Given the description of an element on the screen output the (x, y) to click on. 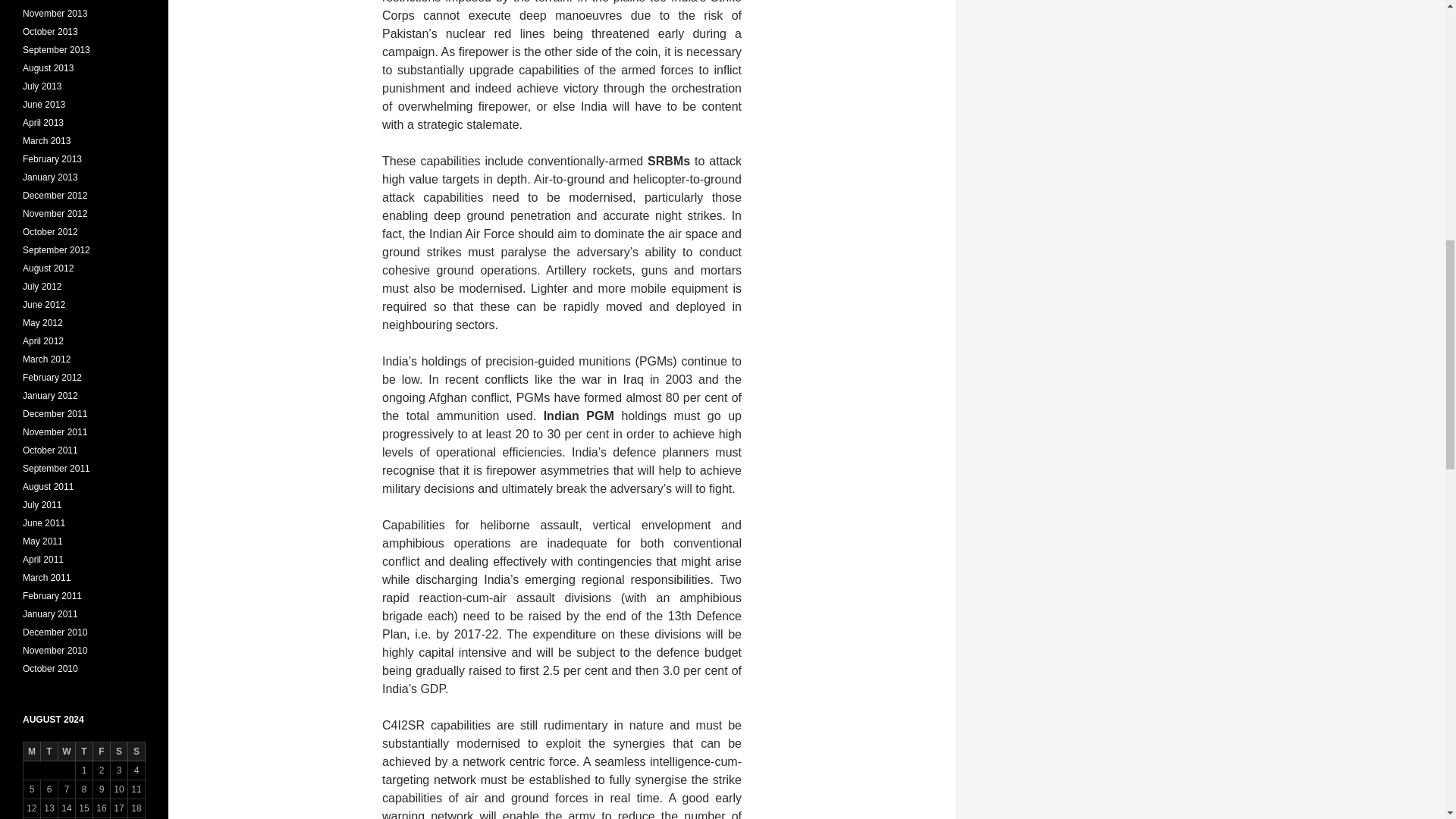
Tuesday (49, 751)
Monday (31, 751)
Wednesday (66, 751)
Friday (101, 751)
Thursday (84, 751)
Saturday (119, 751)
Sunday (136, 751)
